Given the description of an element on the screen output the (x, y) to click on. 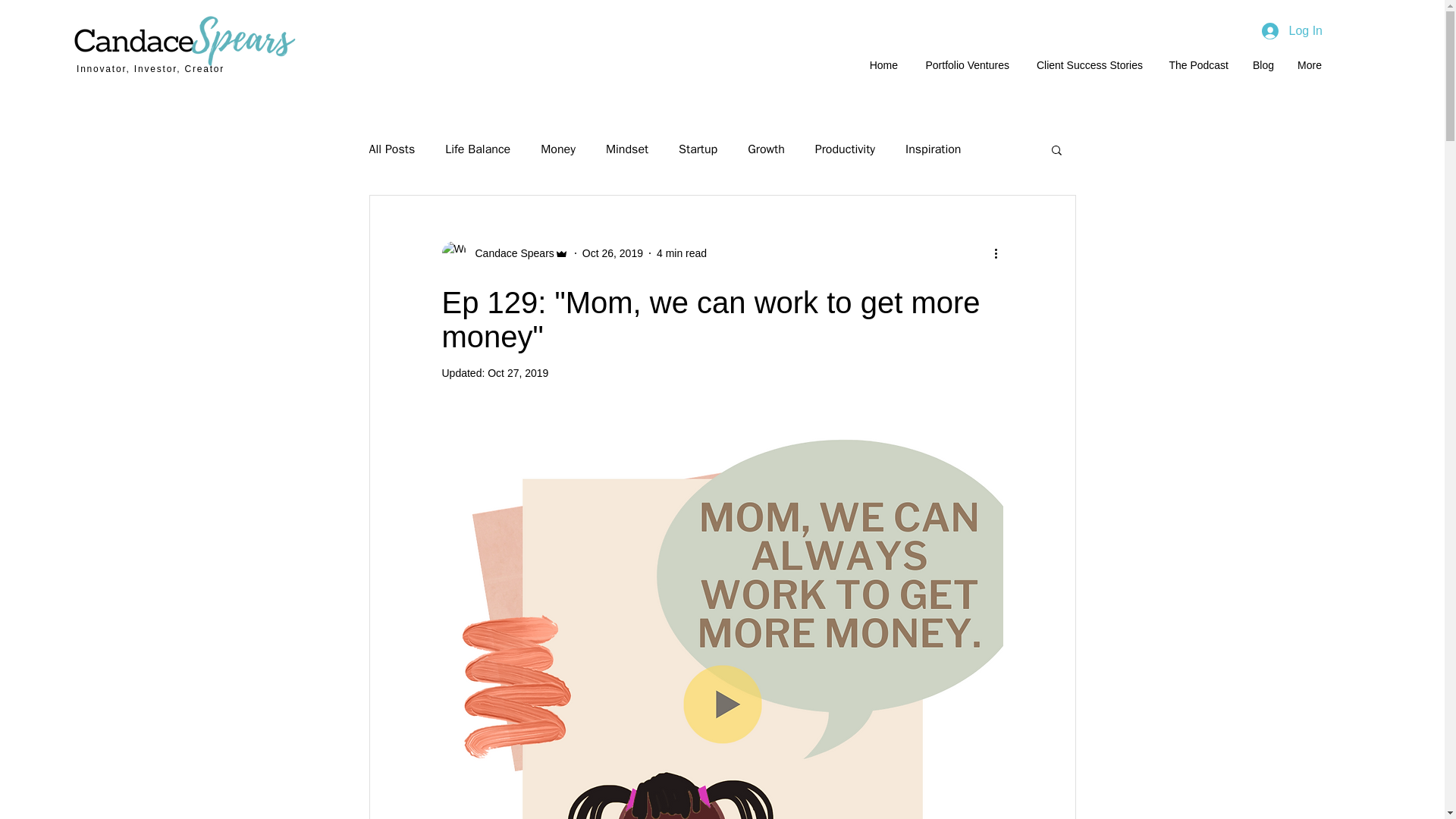
Inspiration (932, 148)
Money (557, 148)
The Podcast (1197, 64)
Candace Spears (504, 252)
Life Balance (478, 148)
Growth (766, 148)
Log In (1291, 31)
Oct 26, 2019 (612, 253)
Client Success Stories (1087, 64)
Oct 27, 2019 (517, 372)
